Given the description of an element on the screen output the (x, y) to click on. 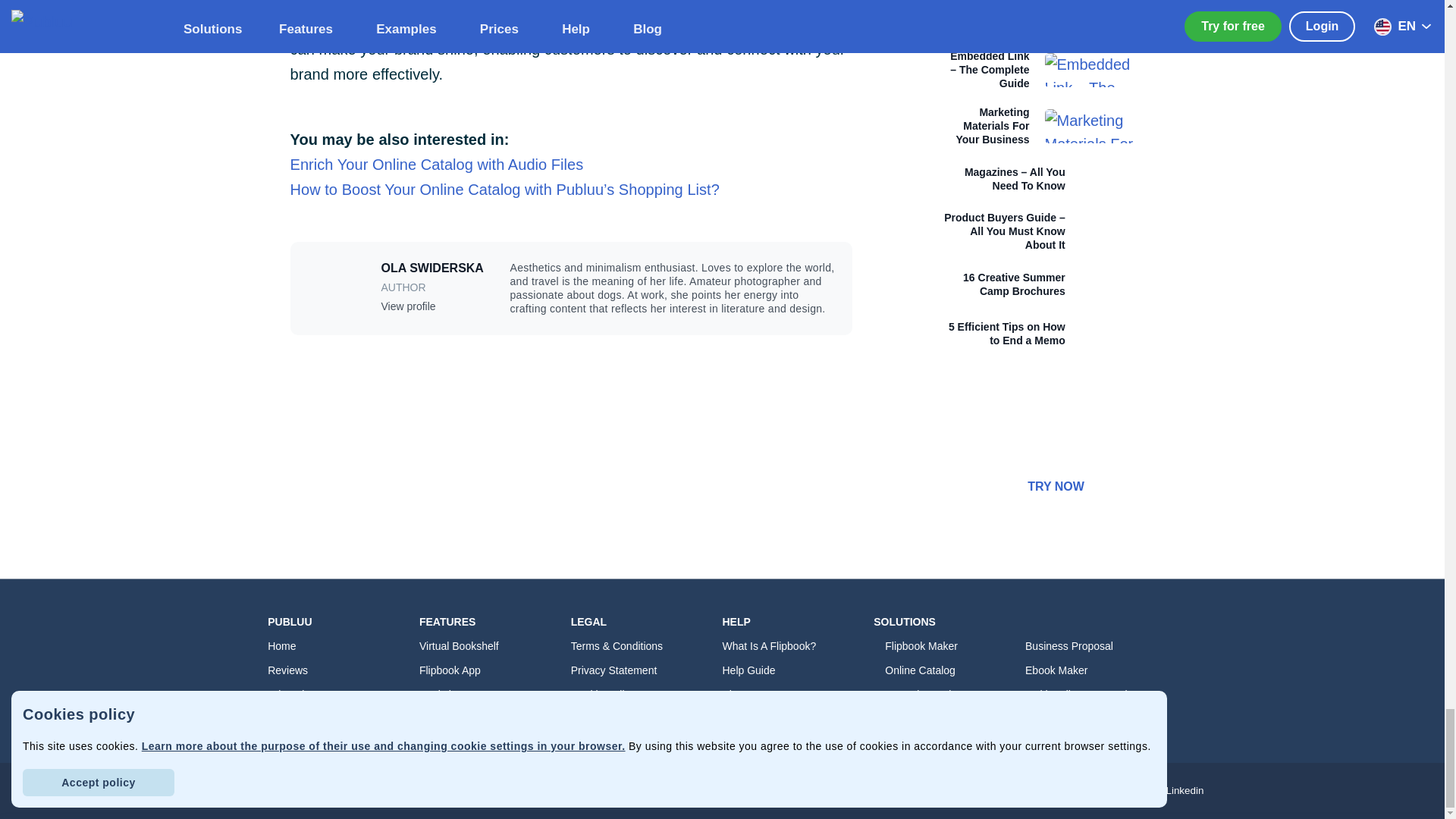
Virtual Bookshelf (494, 646)
Help Guide (797, 669)
PDF tracking (494, 718)
Site Map (343, 742)
Try for free (343, 718)
Blog (797, 694)
Content Protection (646, 742)
Mobile Application (494, 669)
Privacy statement (646, 669)
Home (343, 646)
